Given the description of an element on the screen output the (x, y) to click on. 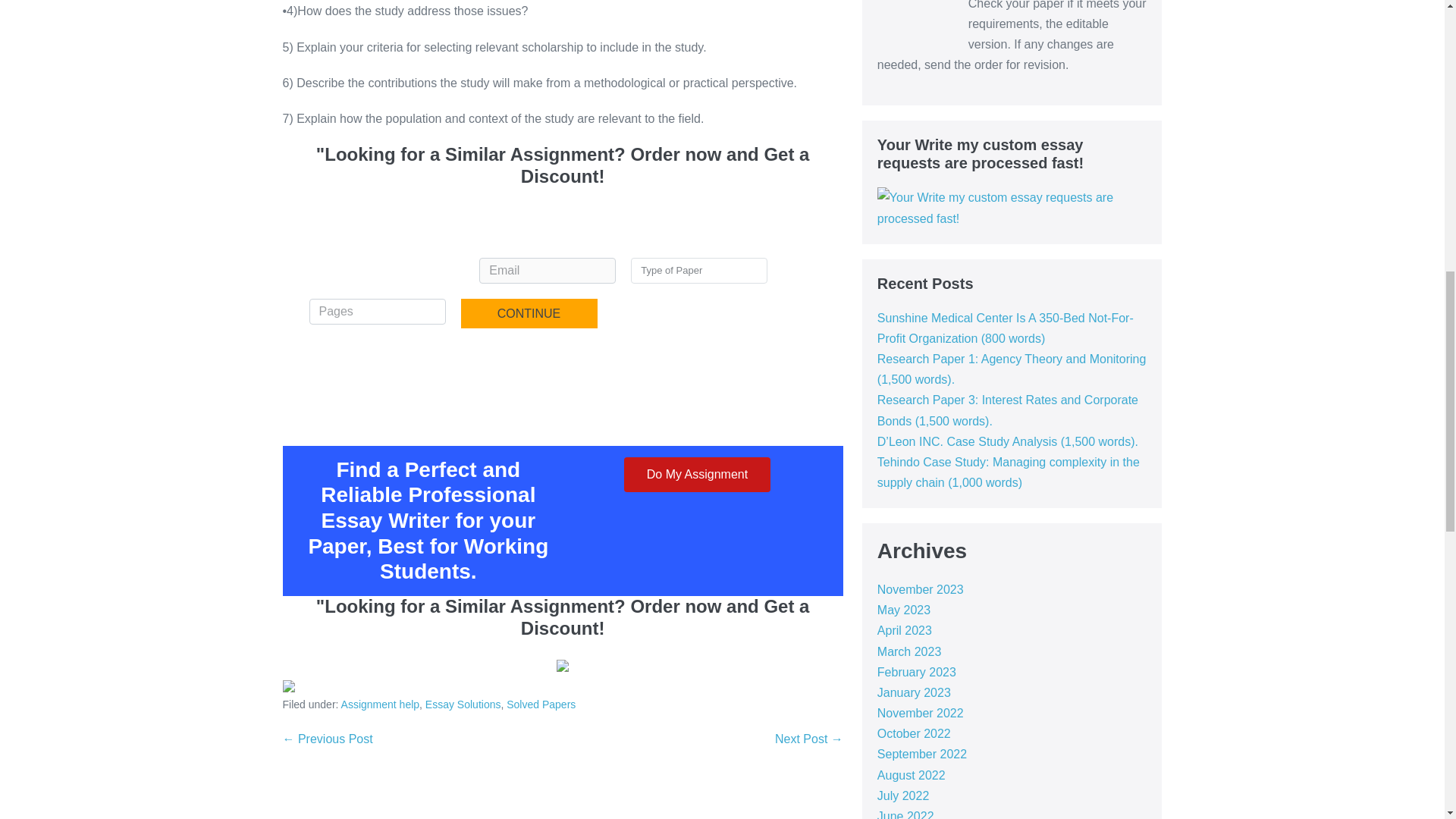
Assignment help (380, 704)
May 2023 (903, 609)
CONTINUE (528, 313)
Essay Solutions (462, 704)
Do My Assignment (697, 474)
November 2023 (920, 589)
Solved Papers (540, 704)
March 2023 (909, 651)
April 2023 (904, 630)
